Given the description of an element on the screen output the (x, y) to click on. 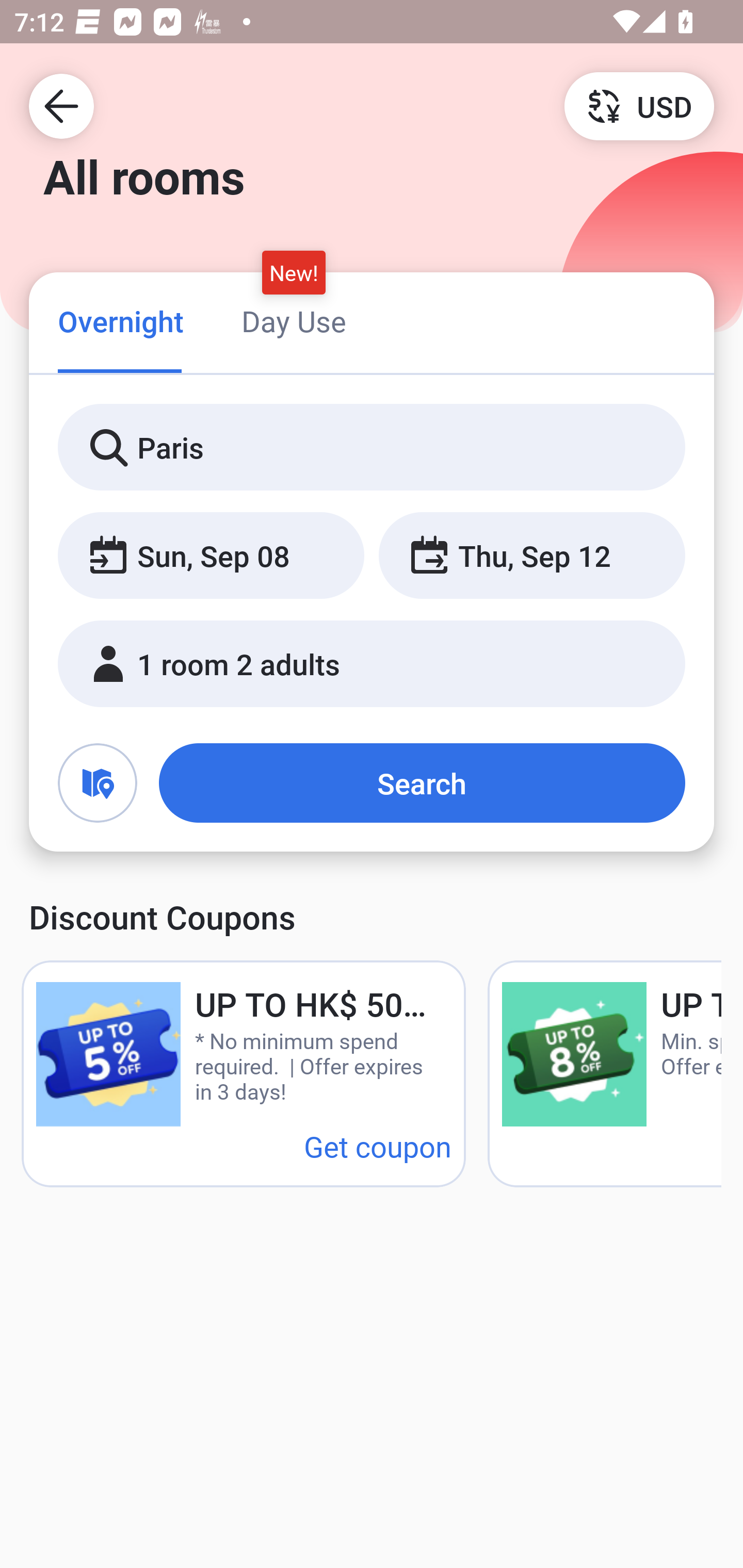
USD (639, 105)
New! (294, 272)
Day Use (293, 321)
Paris (371, 447)
Sun, Sep 08 (210, 555)
Thu, Sep 12 (531, 555)
1 room 2 adults (371, 663)
Search (422, 783)
Get coupon (377, 1146)
